Given the description of an element on the screen output the (x, y) to click on. 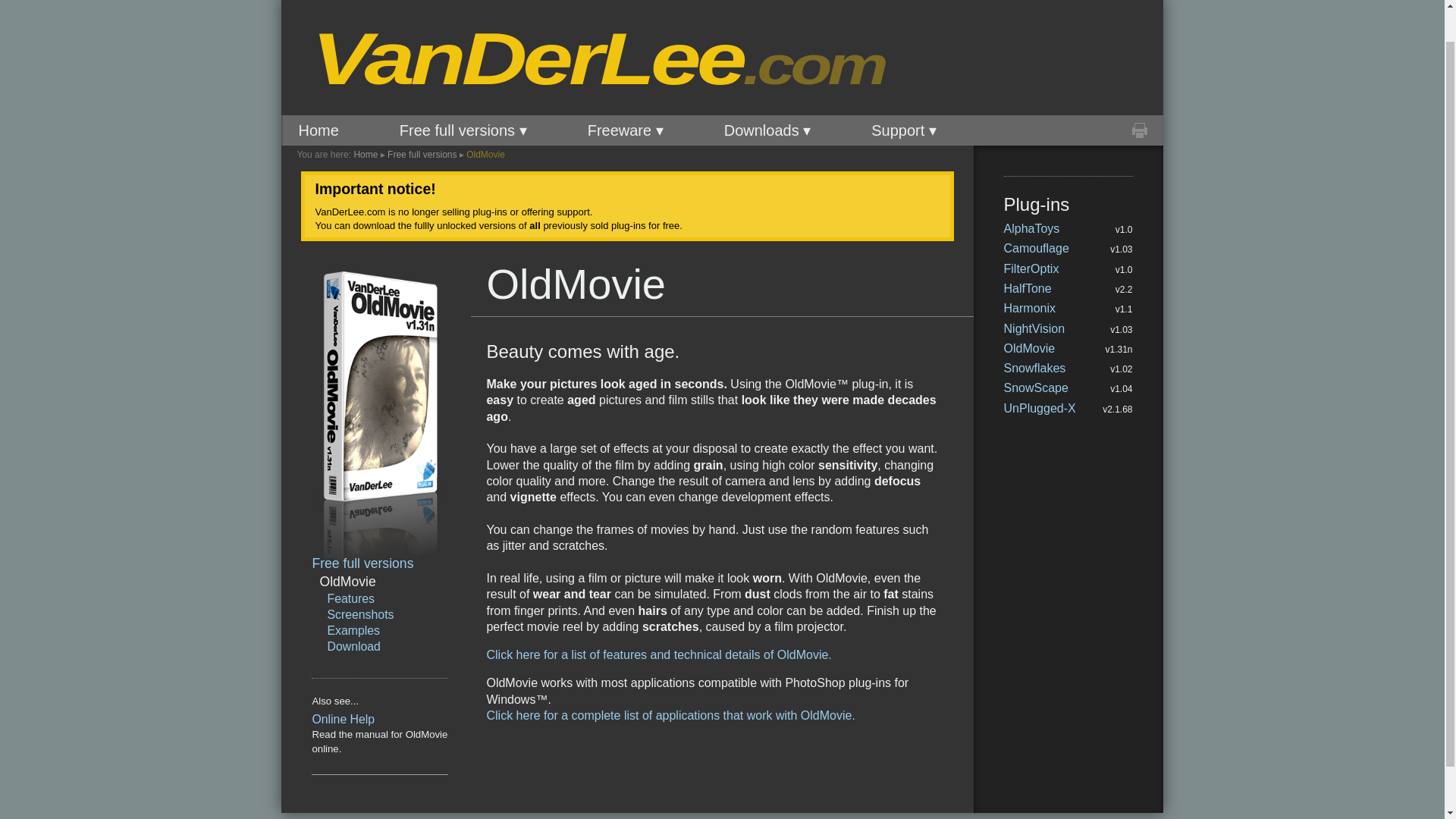
VanDerLee.com (540, 58)
Print this page (1139, 130)
Home (317, 130)
VanDerLee (540, 58)
